Given the description of an element on the screen output the (x, y) to click on. 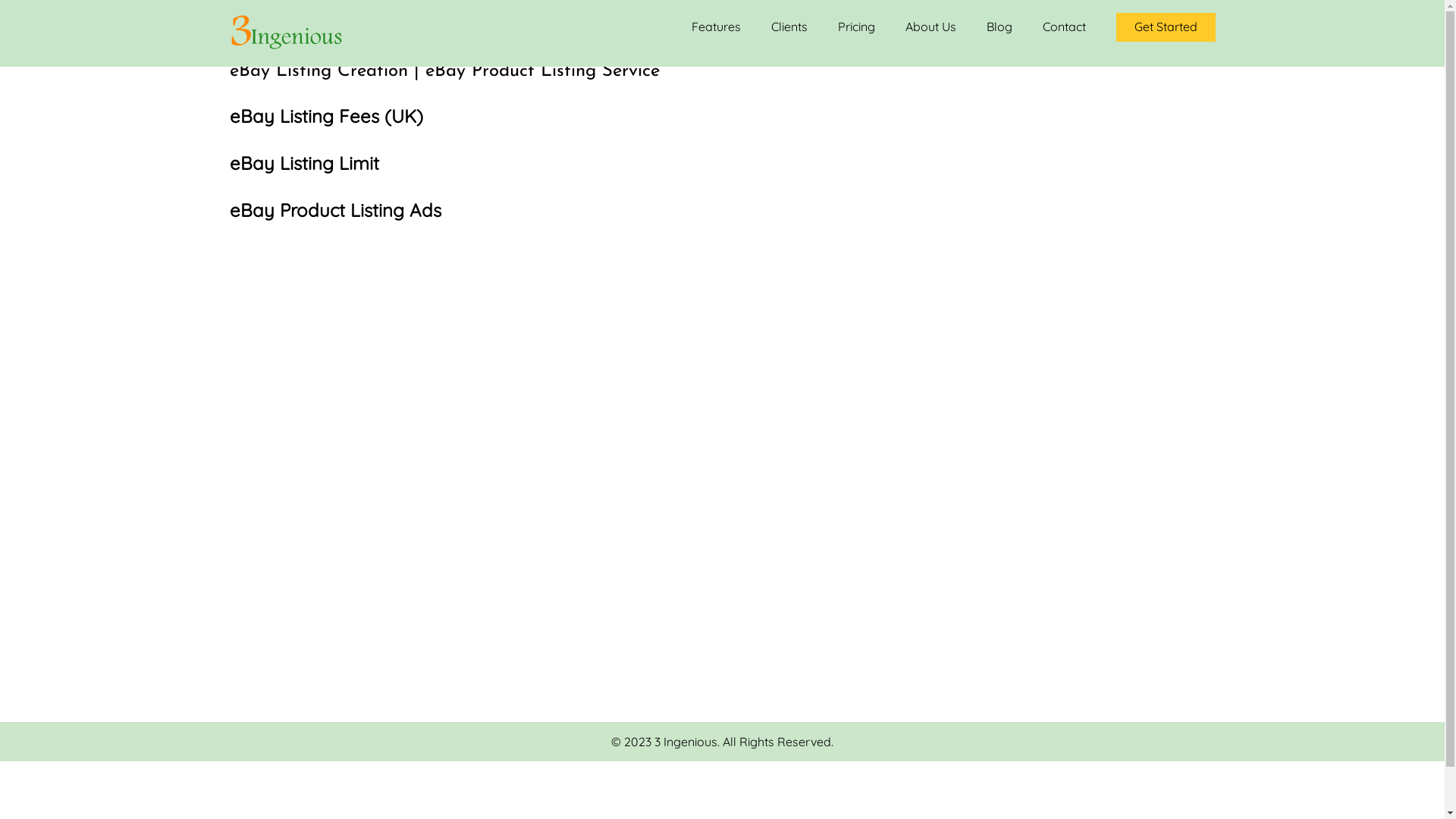
Features Element type: text (715, 26)
Clients Element type: text (788, 26)
About Us Element type: text (930, 26)
Pricing Element type: text (855, 26)
Contact Element type: text (1063, 26)
Get Started Element type: text (1165, 26)
Blog Element type: text (998, 26)
